Given the description of an element on the screen output the (x, y) to click on. 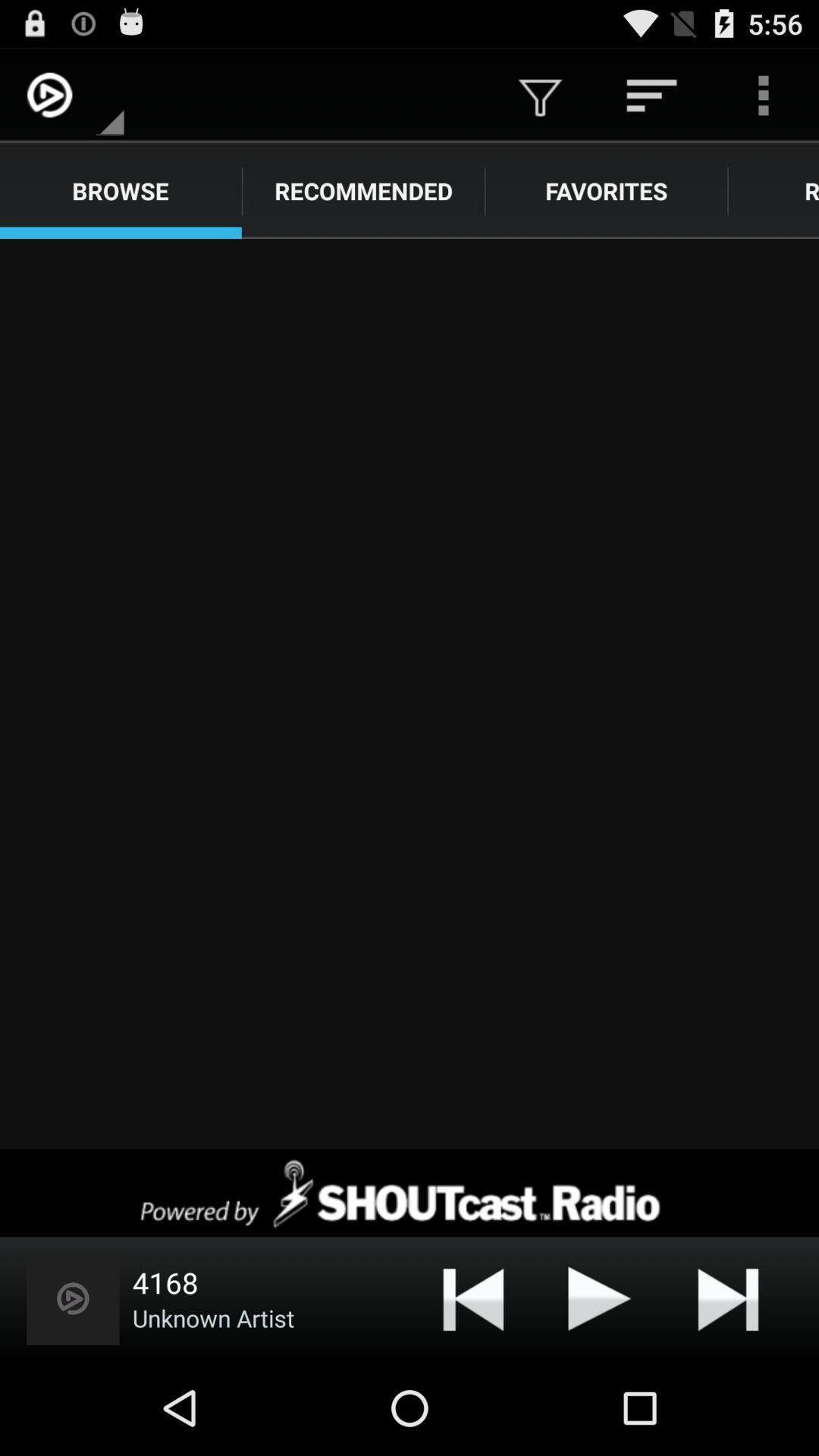
snorelab record your snoring (409, 693)
